Given the description of an element on the screen output the (x, y) to click on. 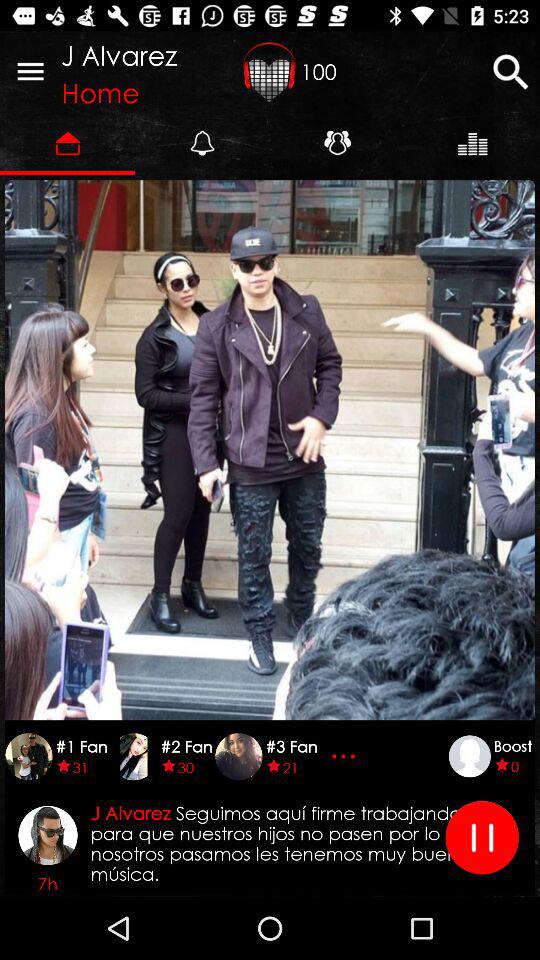
pause/play button (482, 837)
